Given the description of an element on the screen output the (x, y) to click on. 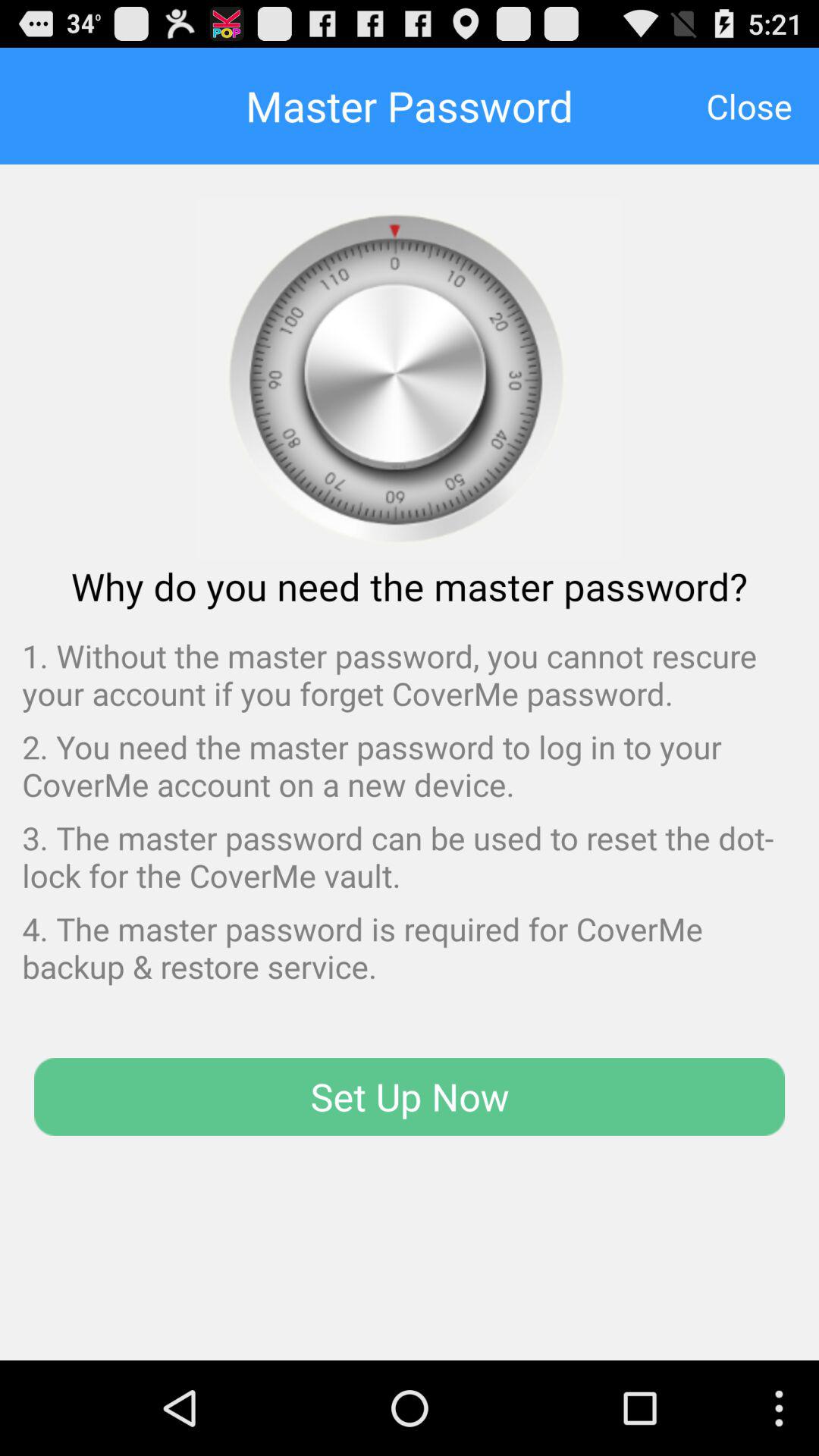
turn off the item below 4 the master (409, 1096)
